Given the description of an element on the screen output the (x, y) to click on. 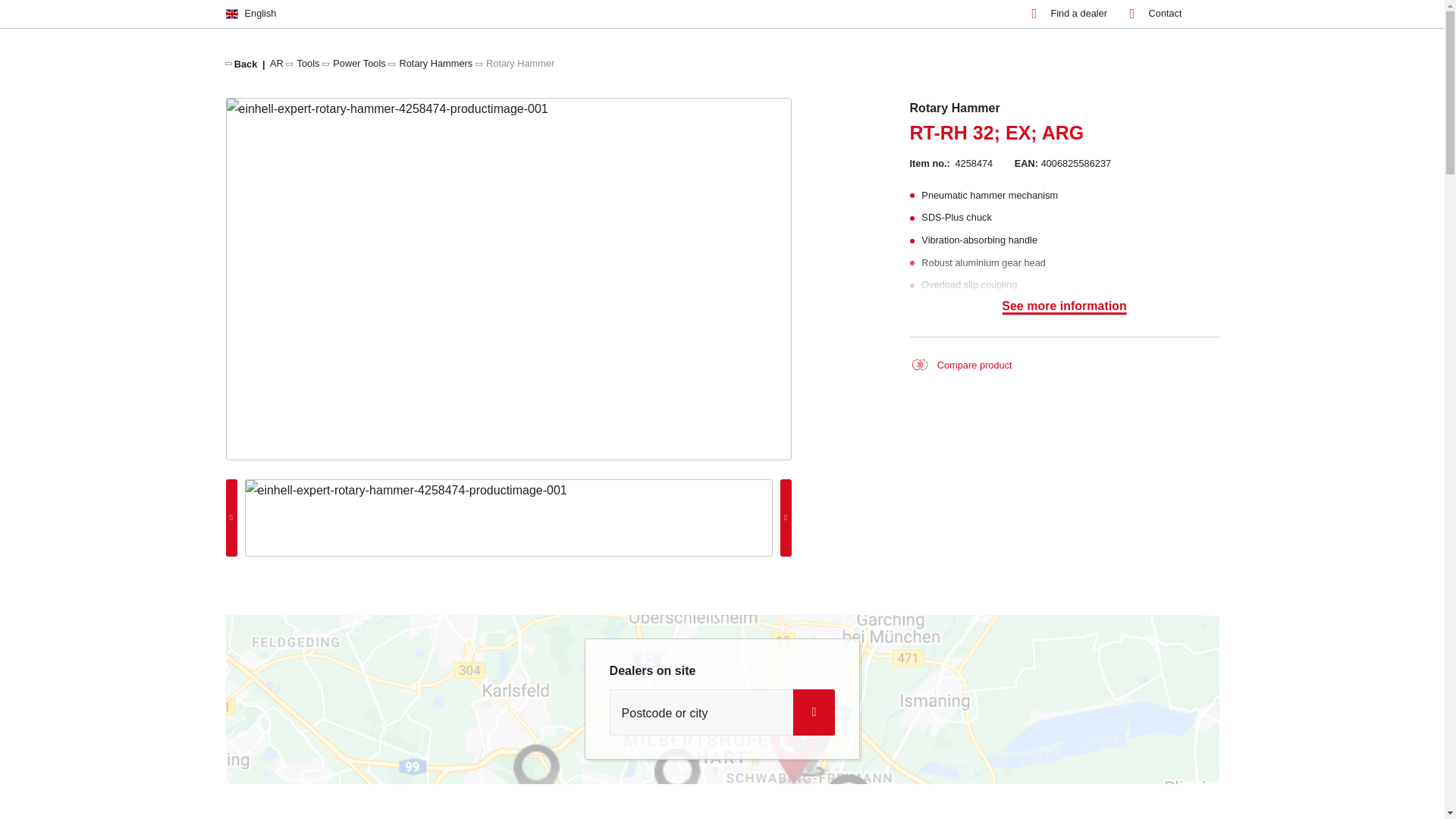
AR (276, 62)
Power Tools (359, 62)
Tools (308, 62)
Find a dealer (1068, 13)
Contact (1155, 13)
Rotary Hammers (434, 62)
